Given the description of an element on the screen output the (x, y) to click on. 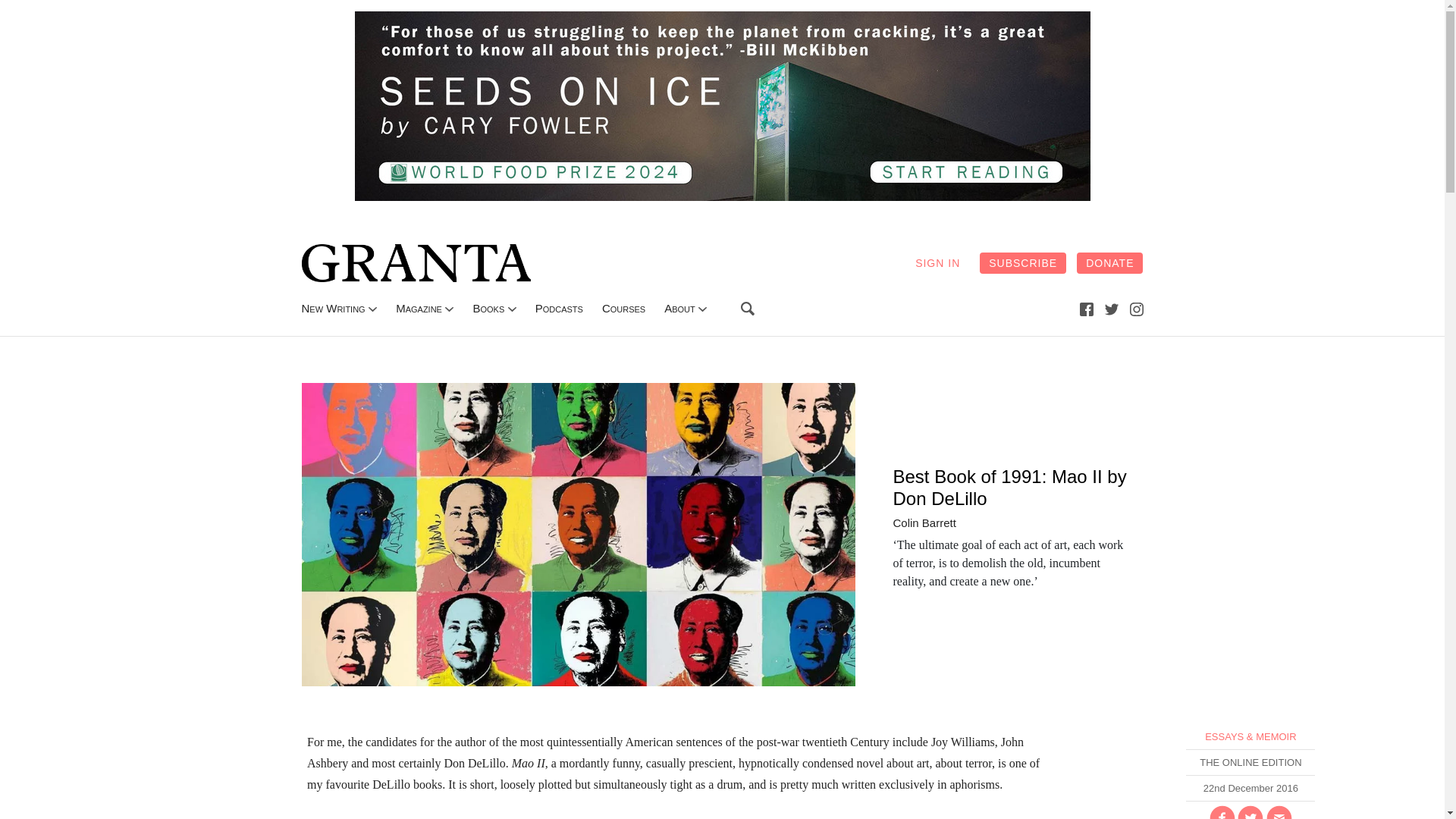
Books (487, 308)
SUBSCRIBE (1022, 262)
twitter Created with Sketch. (1111, 309)
Magazine (419, 308)
about (679, 308)
SIGN IN (937, 262)
twitter Created with Sketch. (1111, 308)
videos (623, 308)
New Writing (333, 308)
Courses (623, 308)
instagram Created with Sketch. (1135, 309)
About (679, 308)
DONATE (1109, 262)
magazine (419, 308)
facebook Created with Sketch. (1086, 308)
